Given the description of an element on the screen output the (x, y) to click on. 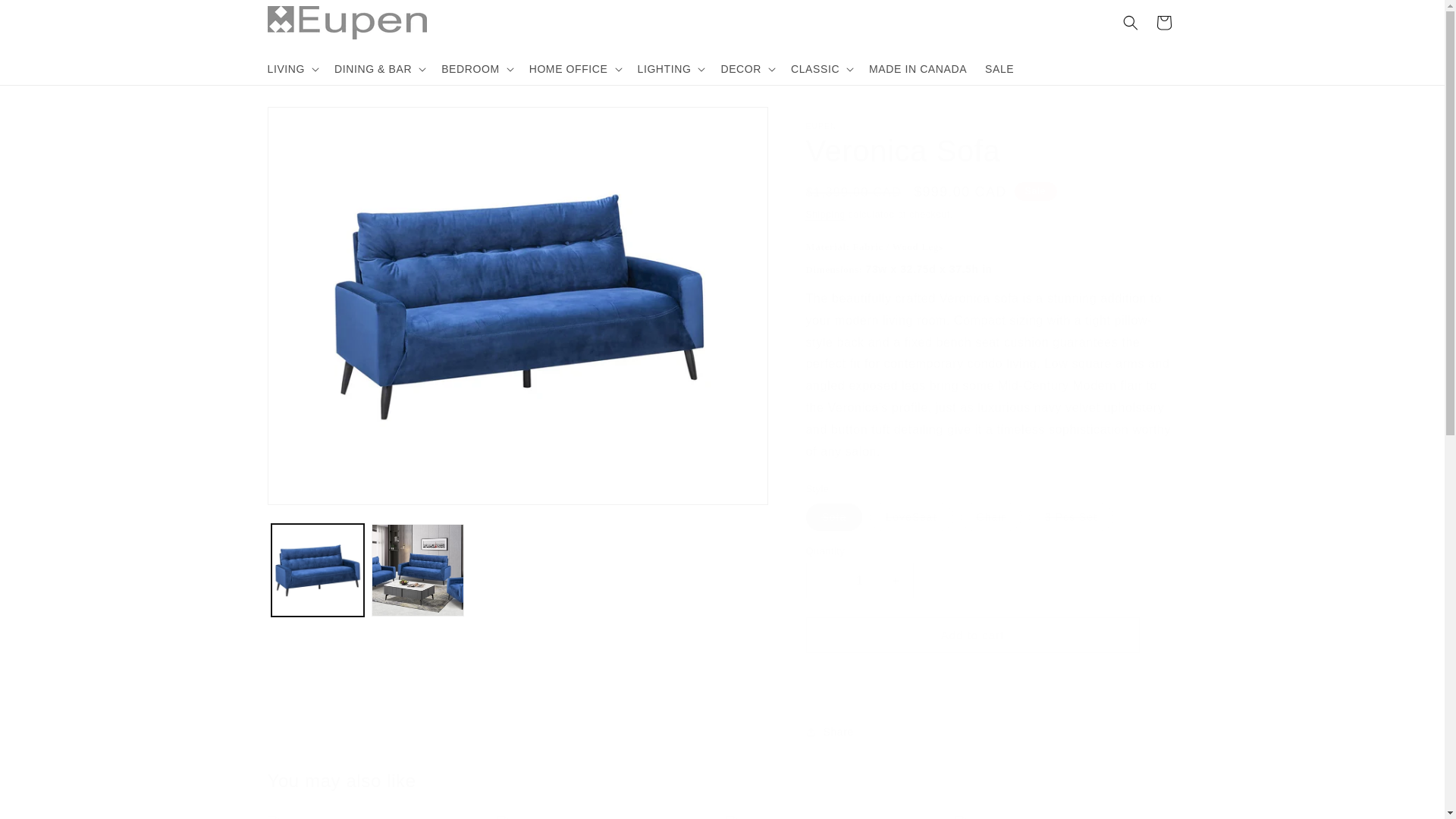
1 (858, 580)
Skip to content (45, 17)
